Given the description of an element on the screen output the (x, y) to click on. 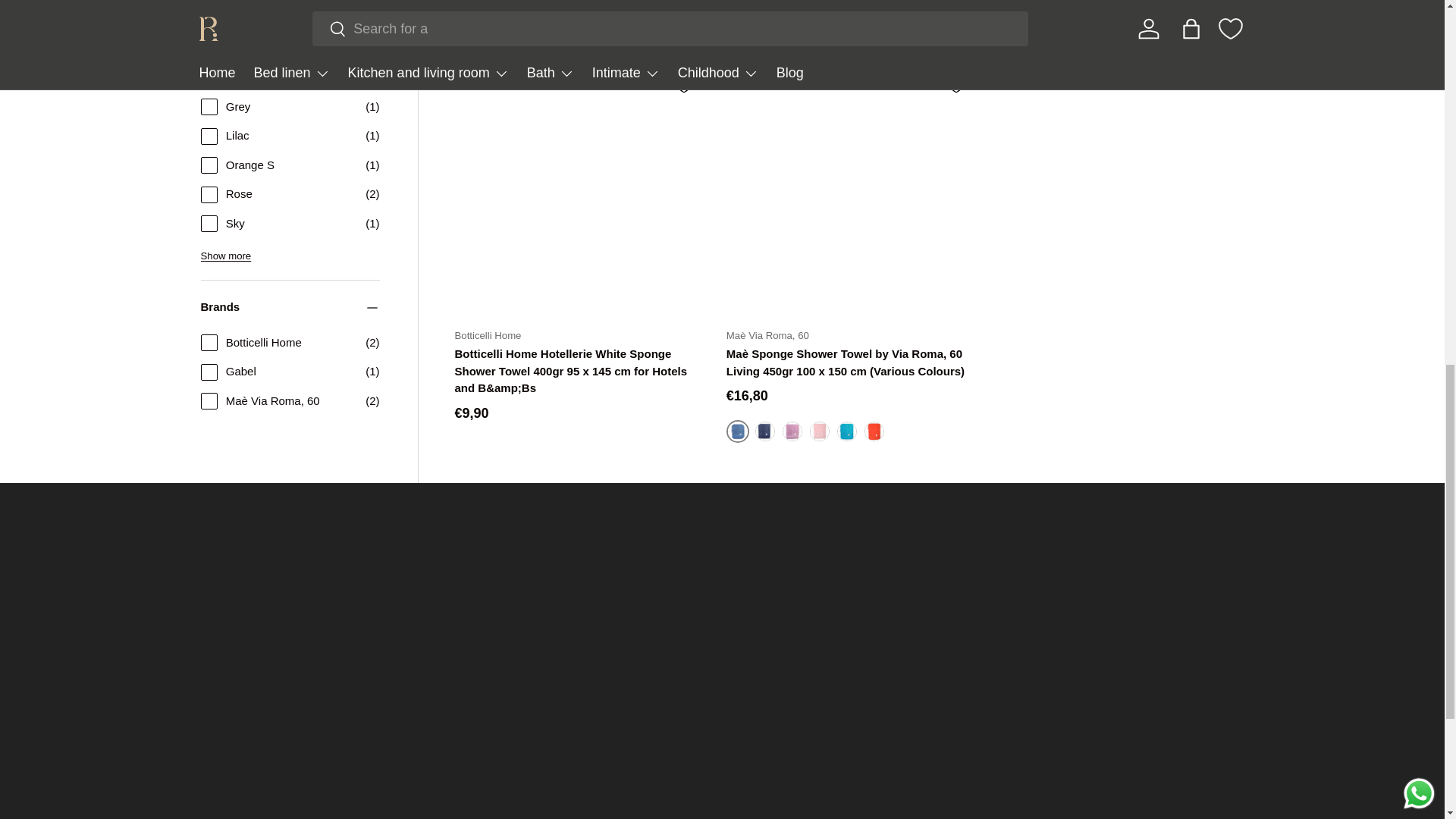
White (1008, 7)
Orange S (873, 431)
Turquoise (847, 431)
Grey (1036, 7)
Cream (1064, 7)
Blue (764, 431)
Rose (1090, 7)
Lilac (792, 431)
Rose (819, 431)
